Given the description of an element on the screen output the (x, y) to click on. 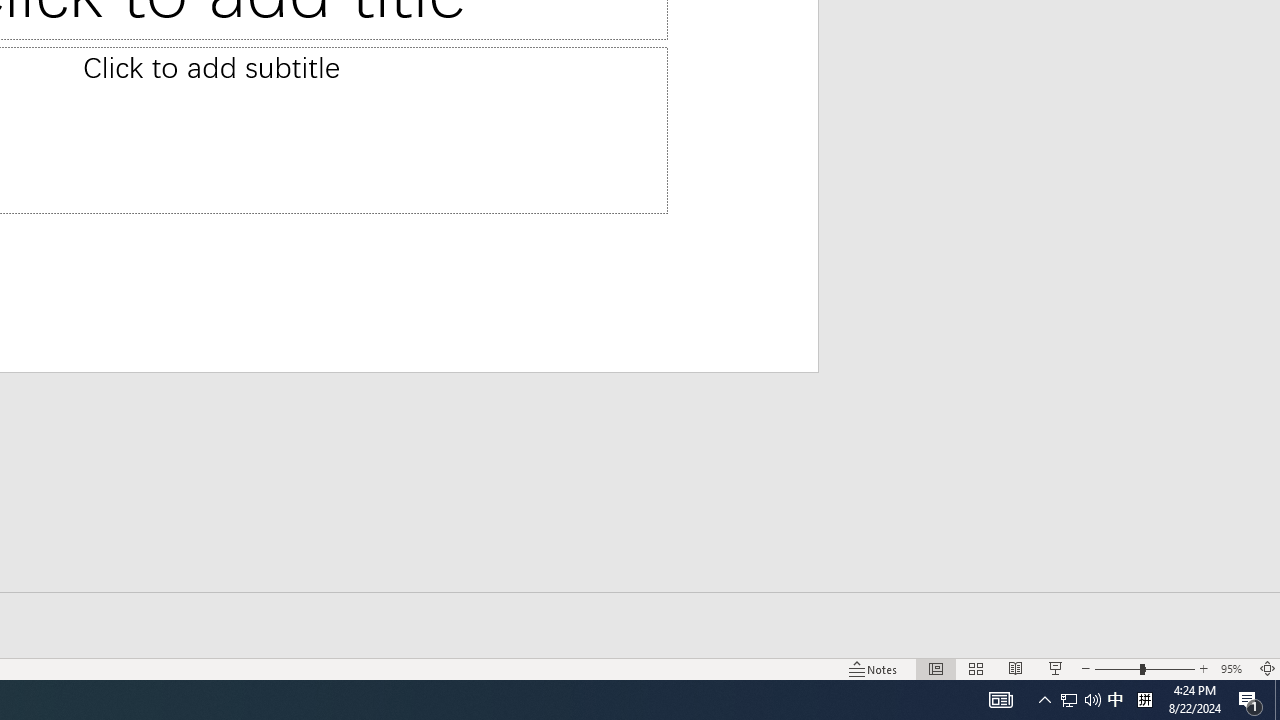
Zoom 95% (1234, 668)
